Given the description of an element on the screen output the (x, y) to click on. 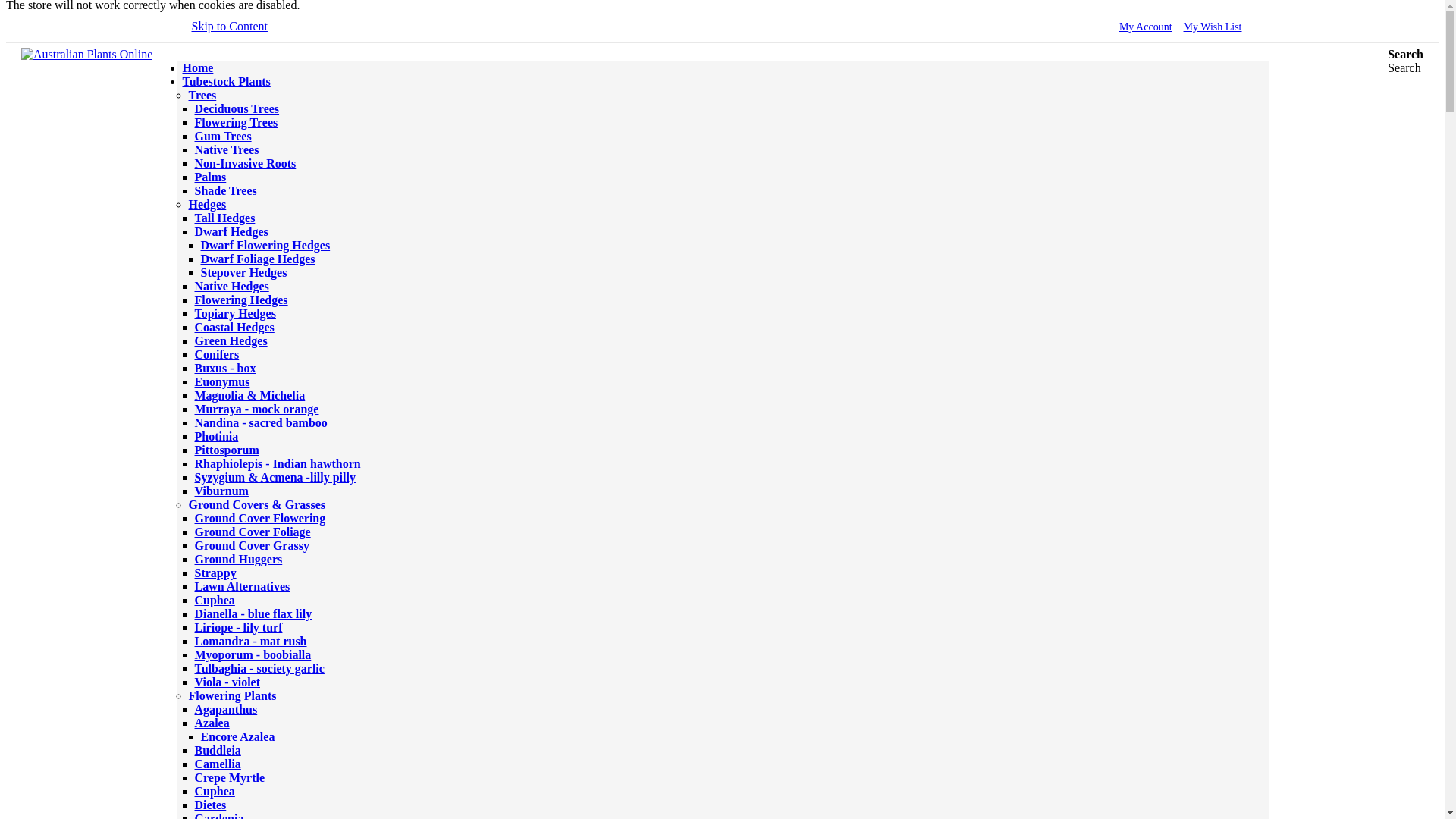
Green Hedges (229, 340)
Palms  (209, 176)
Flowering Trees  (235, 122)
Dwarf Foliage Hedges  (257, 258)
Buxus - box (224, 367)
Flowering Hedges (239, 299)
Dwarf Foliage Hedges (257, 258)
Hedges (206, 204)
Australian Plants Online (86, 54)
Tall Hedges (223, 217)
